Given the description of an element on the screen output the (x, y) to click on. 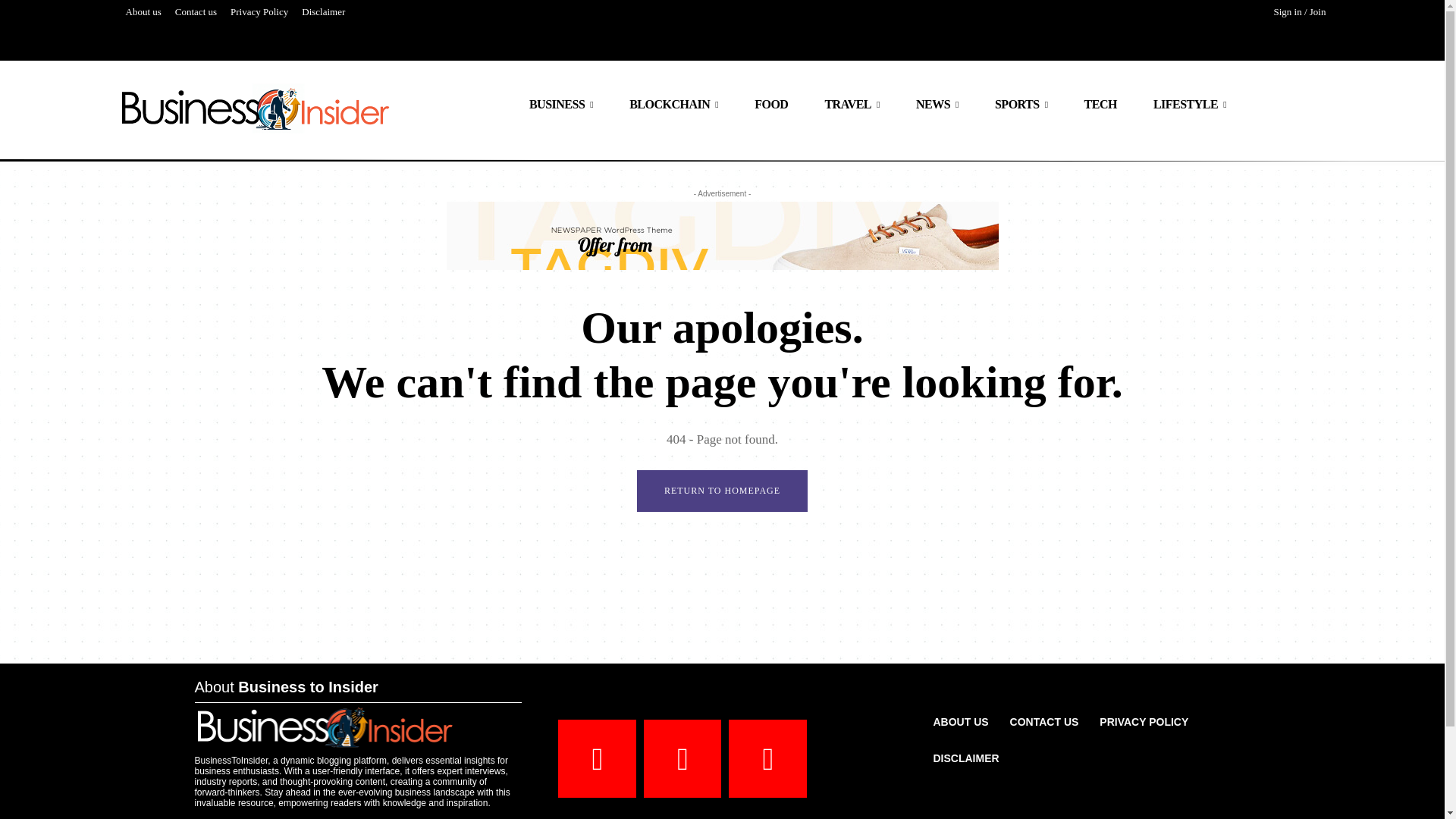
About us (142, 12)
TRAVEL (852, 104)
Facebook (596, 758)
FOOD (771, 104)
Instagram (682, 758)
Twitter (767, 758)
Contact us (196, 12)
Privacy Policy (259, 12)
BLOCKCHAIN (673, 104)
Return to Homepage (722, 490)
